Given the description of an element on the screen output the (x, y) to click on. 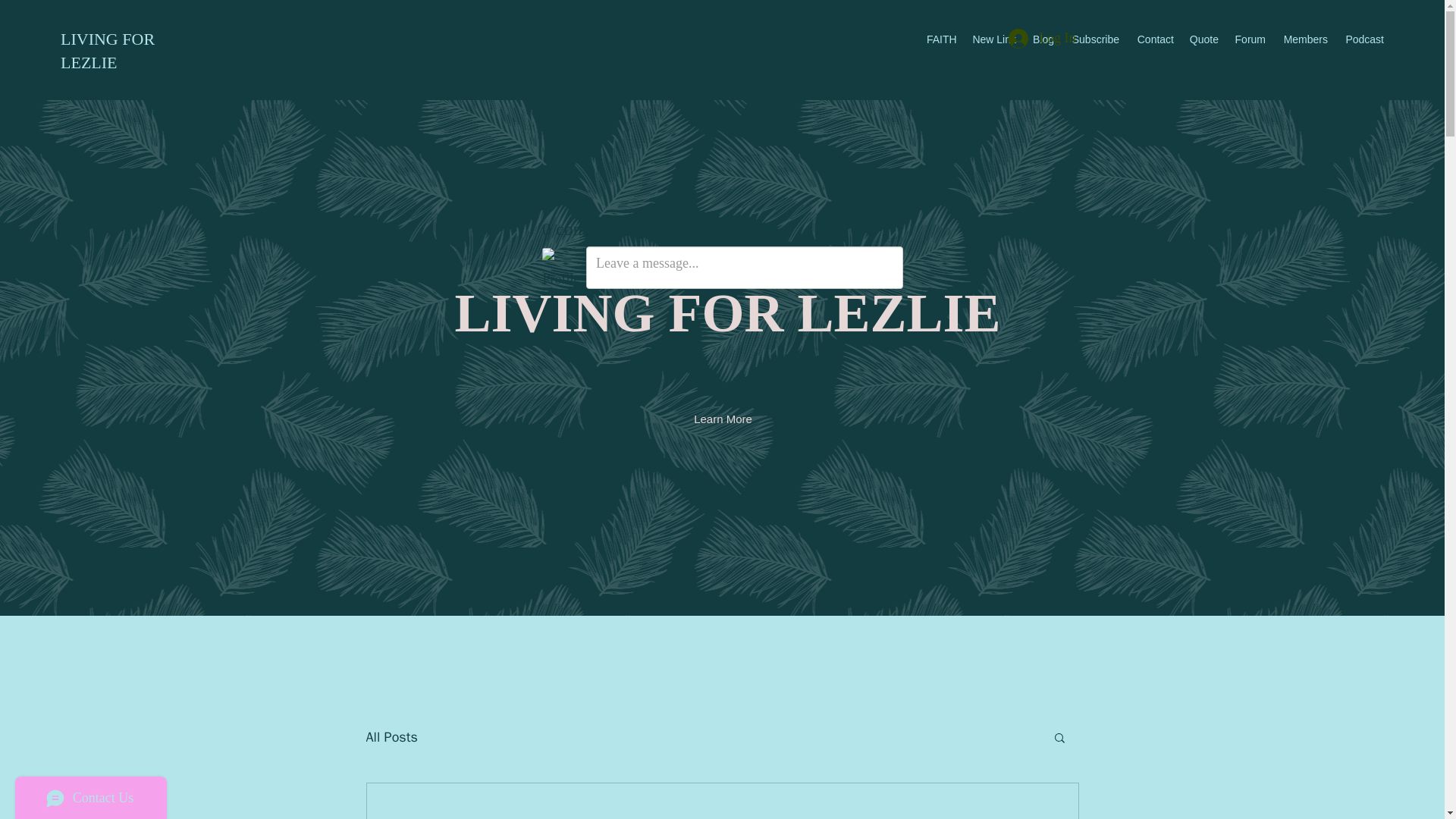
Members (1303, 38)
Quote (1202, 38)
All Posts (390, 737)
LIVING FOR LEZLIE (107, 50)
Wix Chat (87, 794)
Log In (1041, 38)
Subscribe (1093, 38)
Podcast (1363, 38)
Forum (1248, 38)
FAITH (940, 38)
Learn More (723, 418)
Blog (1042, 38)
New Link (992, 38)
Contact (1153, 38)
Comments (721, 254)
